Given the description of an element on the screen output the (x, y) to click on. 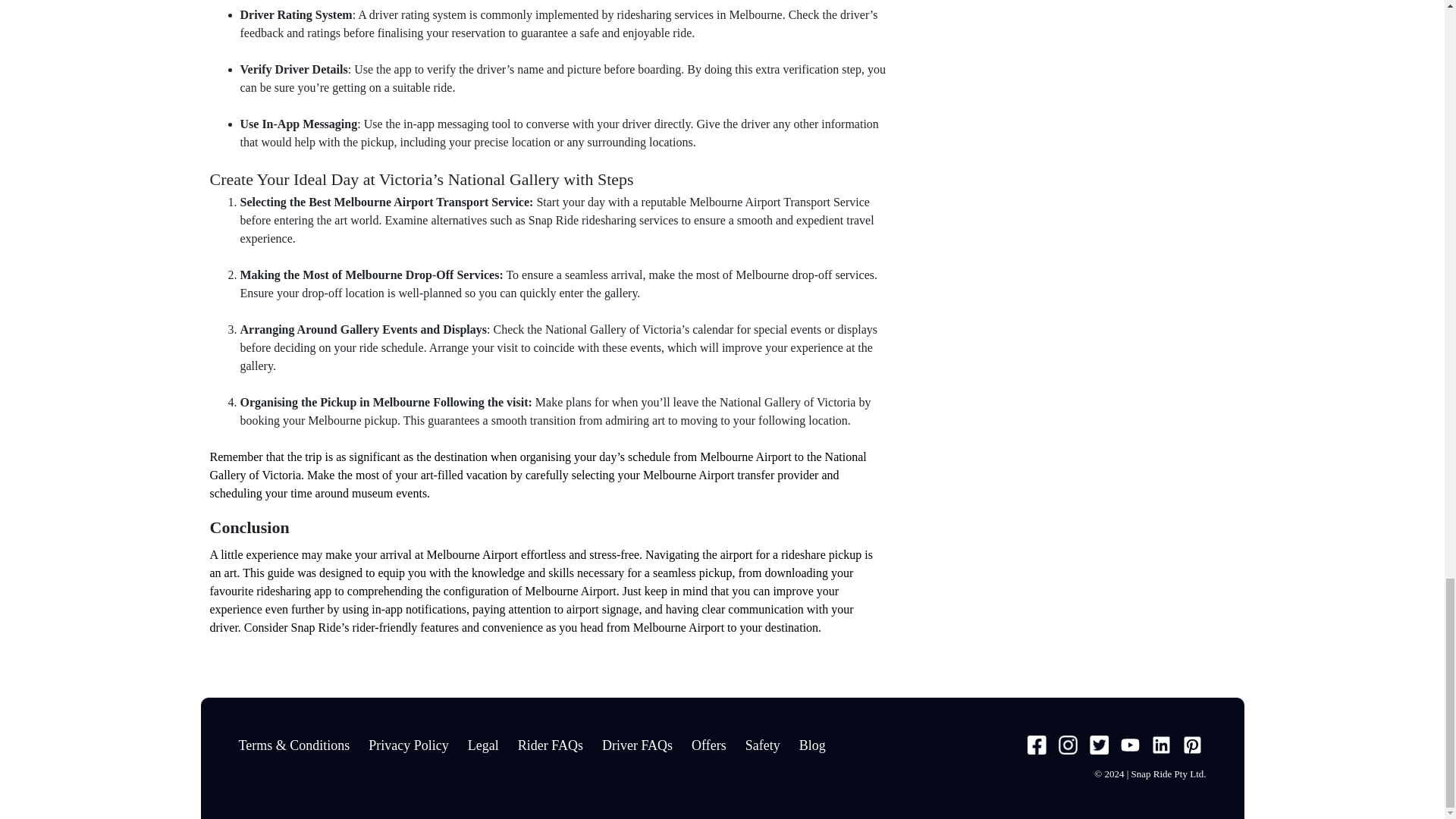
Safety (762, 744)
Privacy Policy (408, 744)
Driver FAQs (637, 744)
Offers (708, 744)
Rider FAQs (550, 744)
ridesharing app (293, 590)
Legal (483, 744)
